Given the description of an element on the screen output the (x, y) to click on. 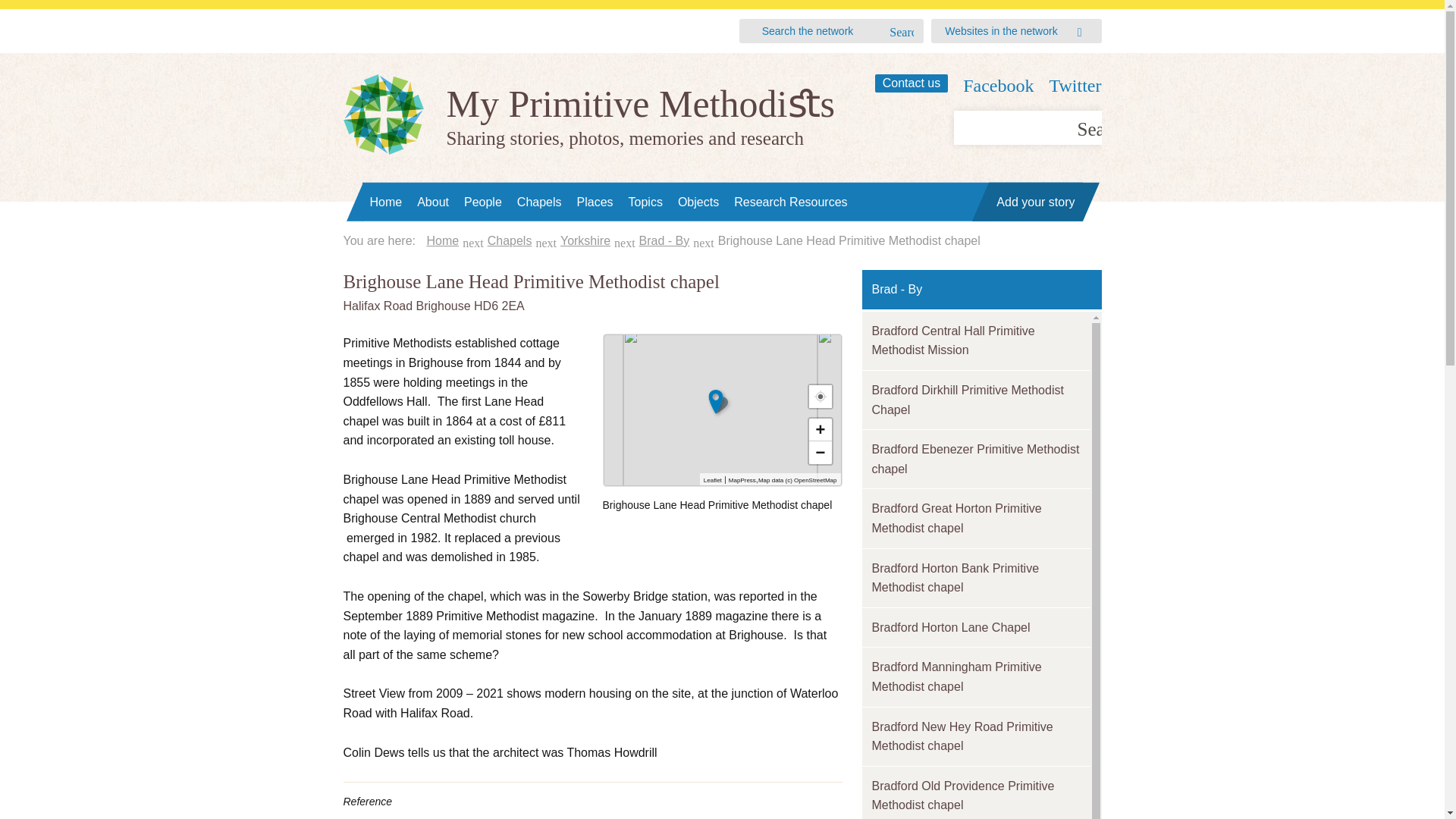
Search (901, 32)
Add your story (1034, 201)
About (433, 201)
People (483, 201)
Yorkshire (585, 240)
Leaflet (712, 480)
Your Location (819, 395)
Research Resources (790, 201)
Topics (645, 201)
Websites in the network (1000, 30)
Brad - By (664, 240)
Contact us (911, 83)
Home (386, 201)
Search the network (823, 30)
Facebook (997, 85)
